Given the description of an element on the screen output the (x, y) to click on. 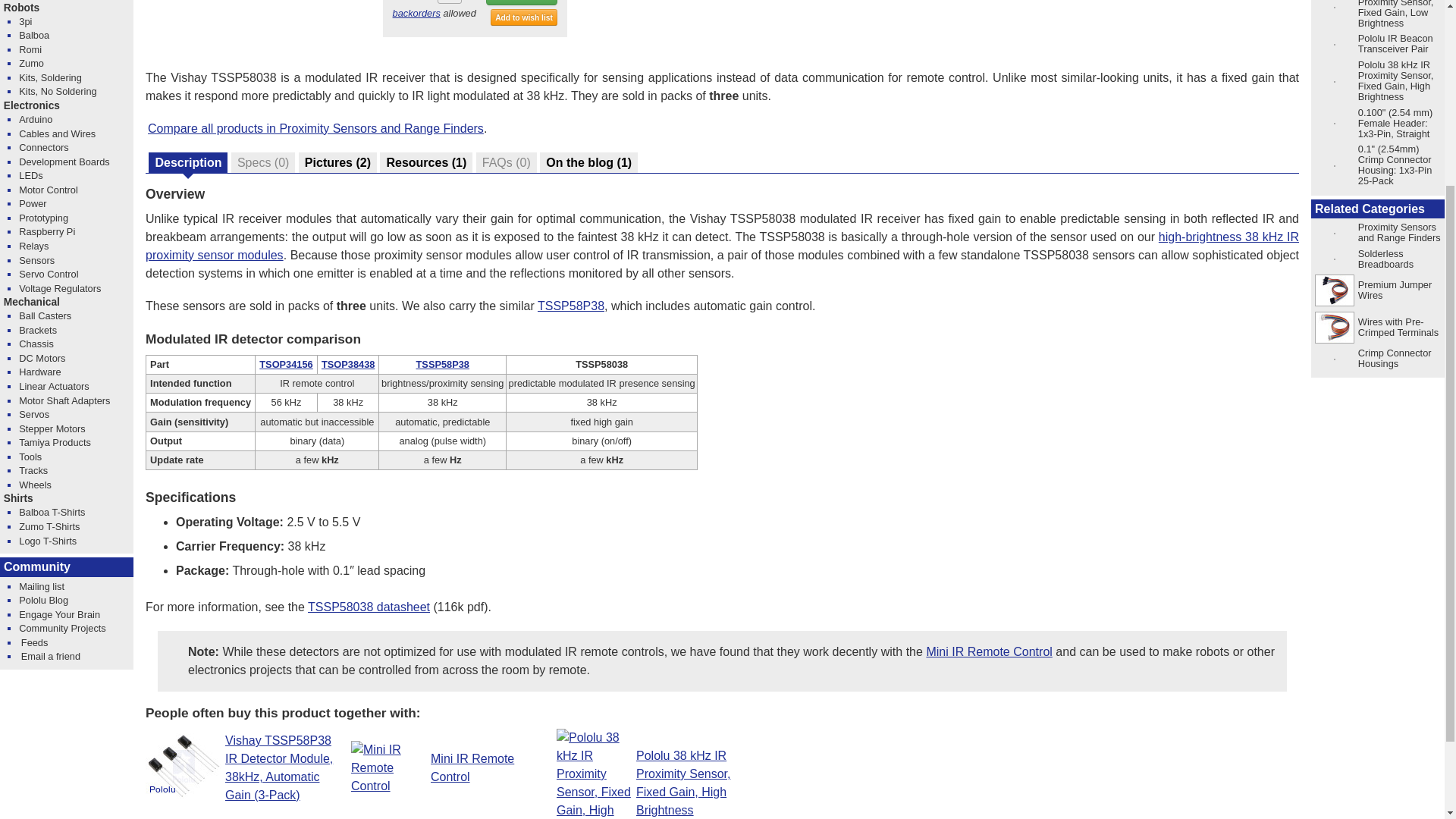
Add to wish list (523, 17)
TSOP38438 (347, 364)
Add to cart (521, 2)
TSSP58038 datasheet (368, 606)
Compare all products in Proximity Sensors and Range Finders (315, 128)
TSOP34156 (286, 364)
TSSP58P38 (442, 364)
TSSP58P38 (570, 305)
high-brightness 38 kHz IR proximity sensor modules (721, 245)
1 (449, 2)
